Given the description of an element on the screen output the (x, y) to click on. 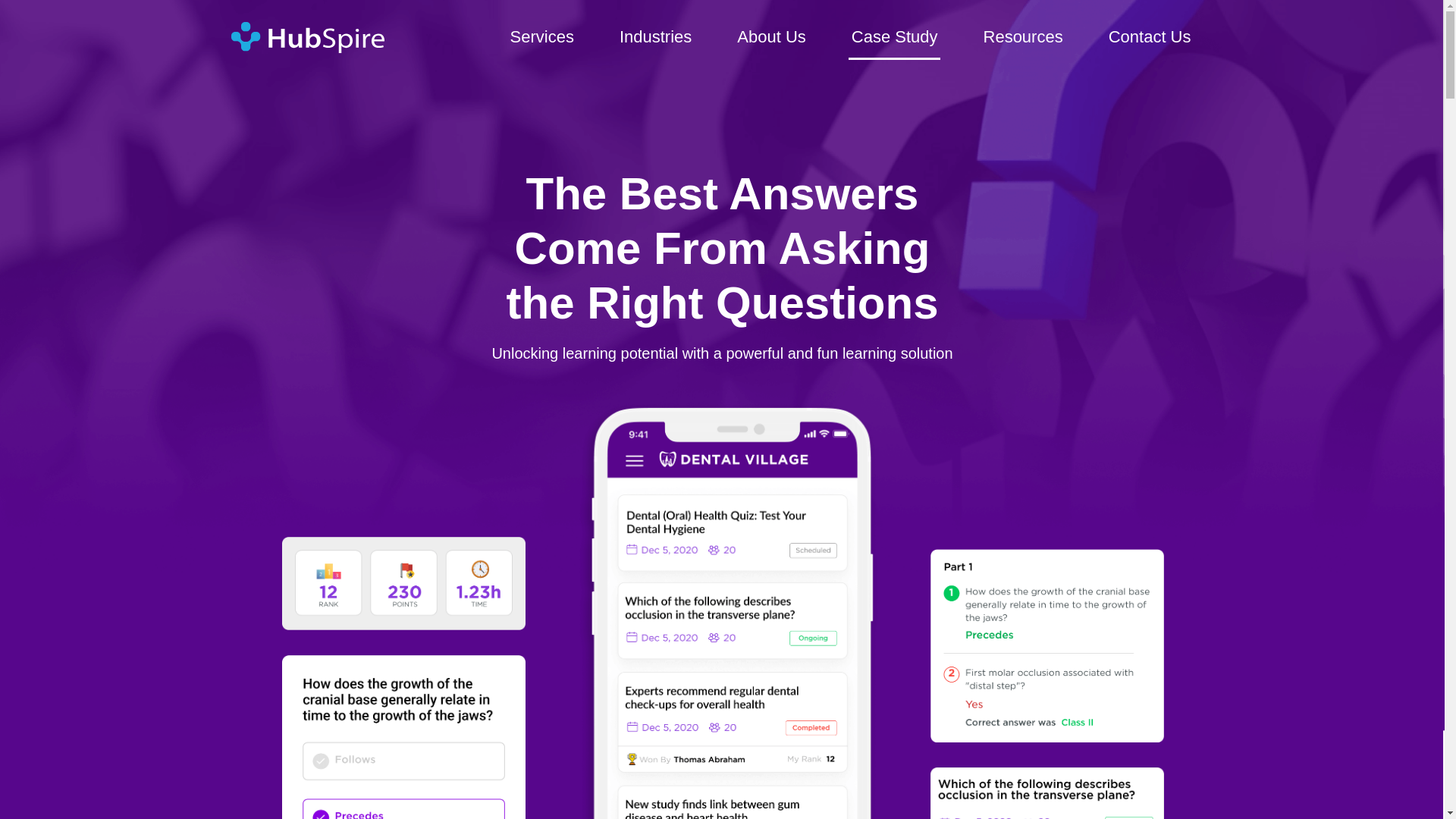
About Us (771, 37)
Services (541, 37)
Case Study (850, 37)
Industries (894, 37)
image img-fluid (655, 37)
